Given the description of an element on the screen output the (x, y) to click on. 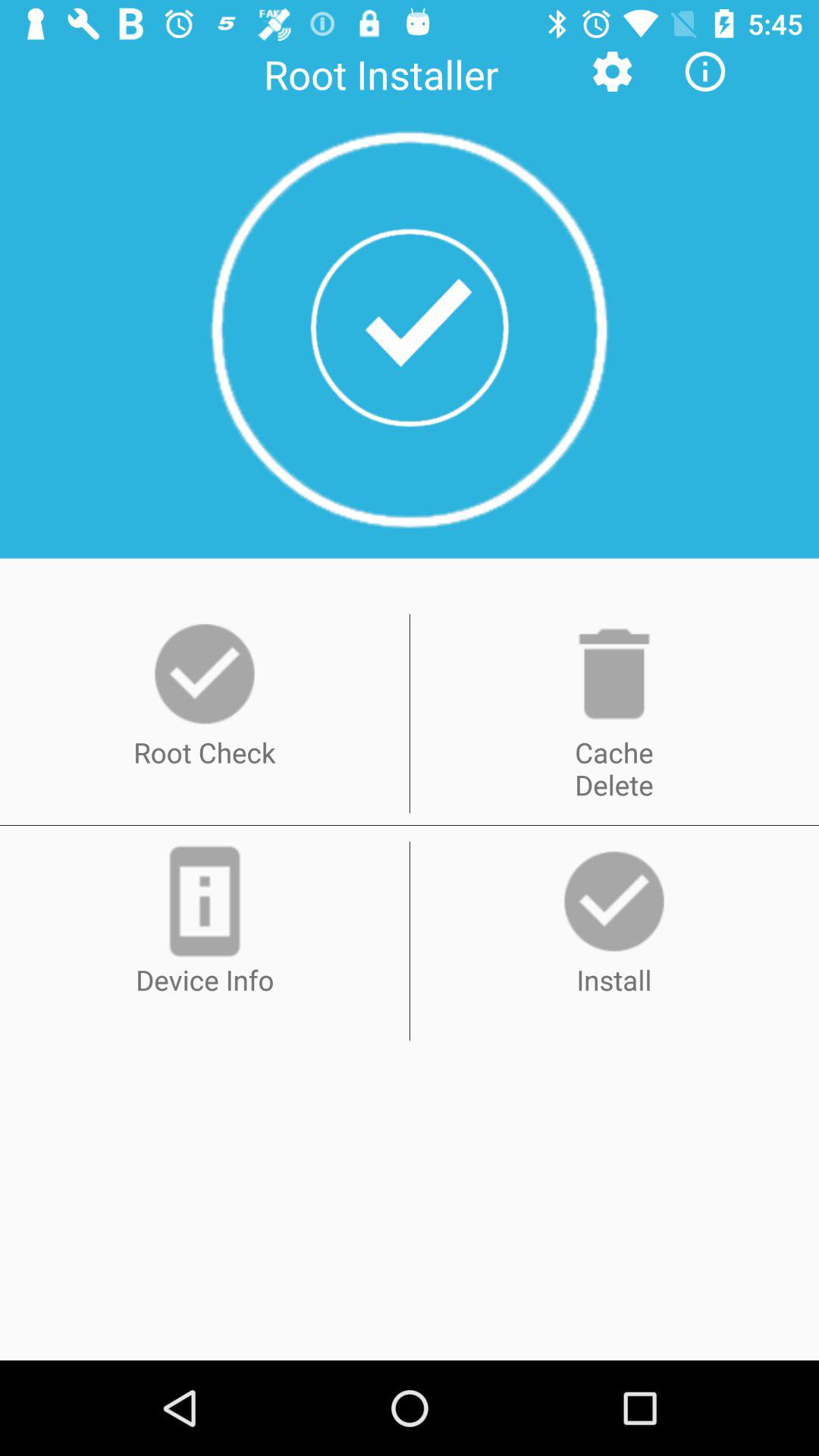
select icon next to root installer icon (612, 71)
